Given the description of an element on the screen output the (x, y) to click on. 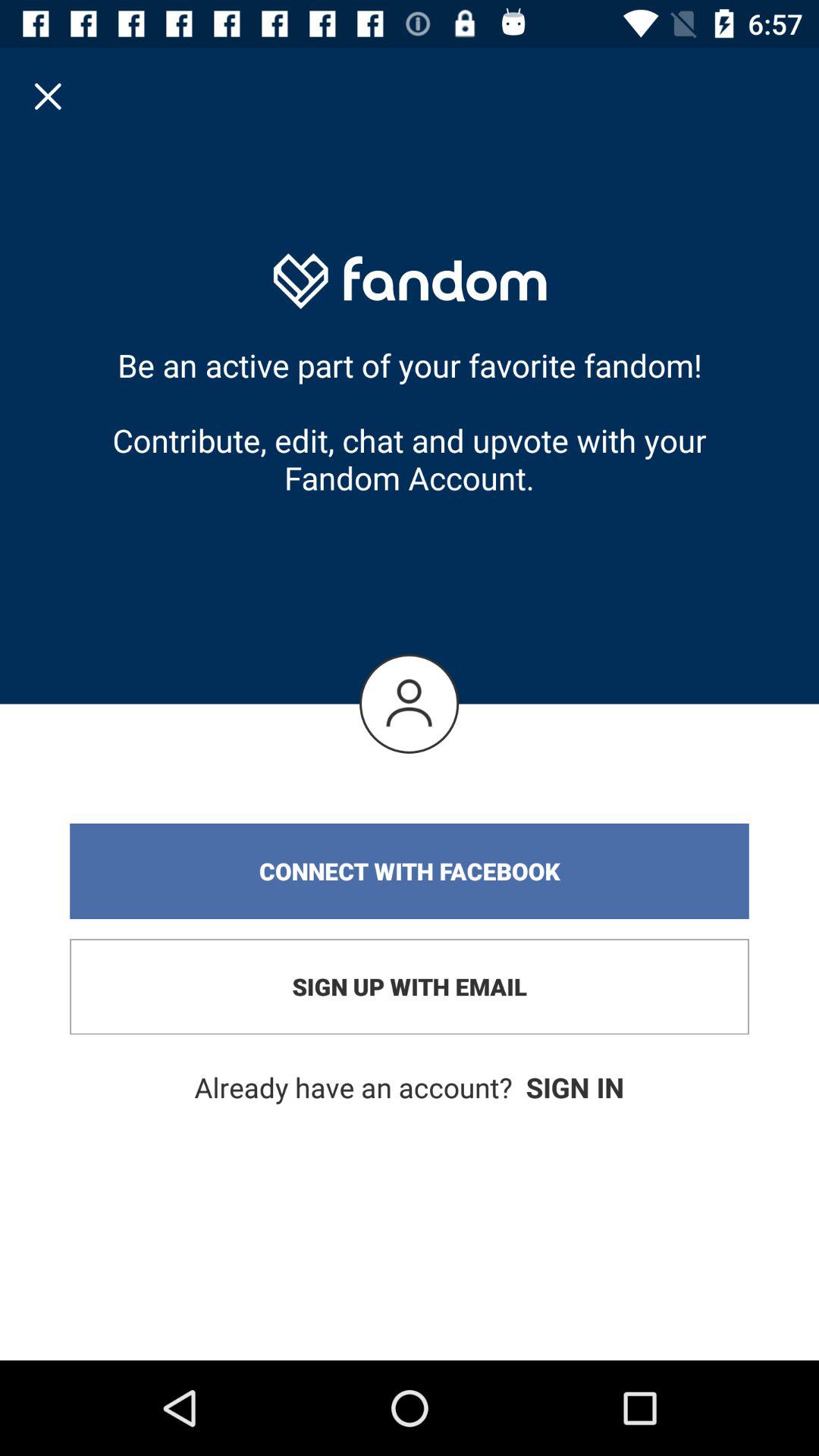
select the connect with facebook item (409, 871)
